Given the description of an element on the screen output the (x, y) to click on. 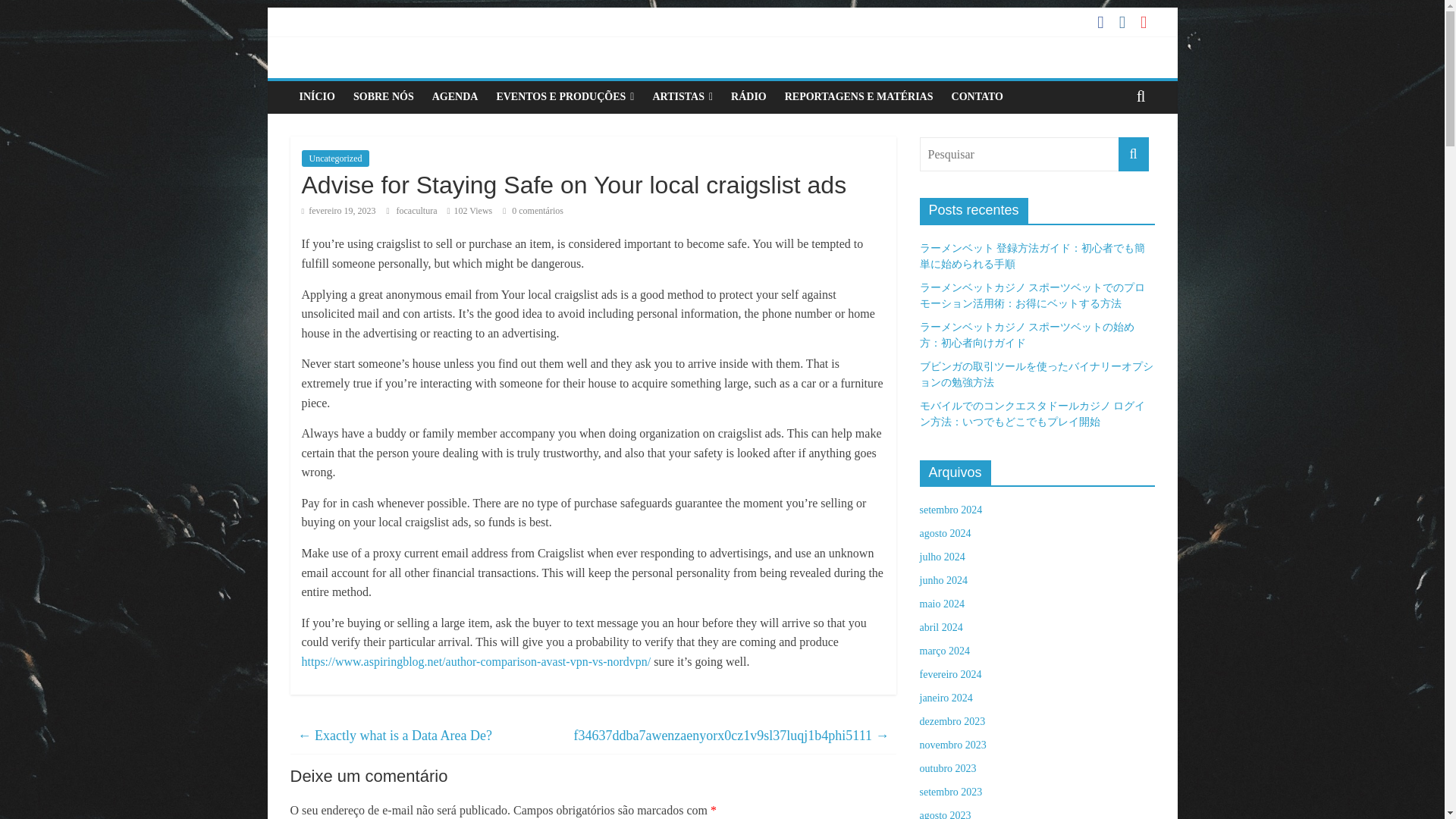
ARTISTAS (682, 97)
focacultura (417, 210)
AGENDA (455, 97)
12:00 am (338, 210)
